Given the description of an element on the screen output the (x, y) to click on. 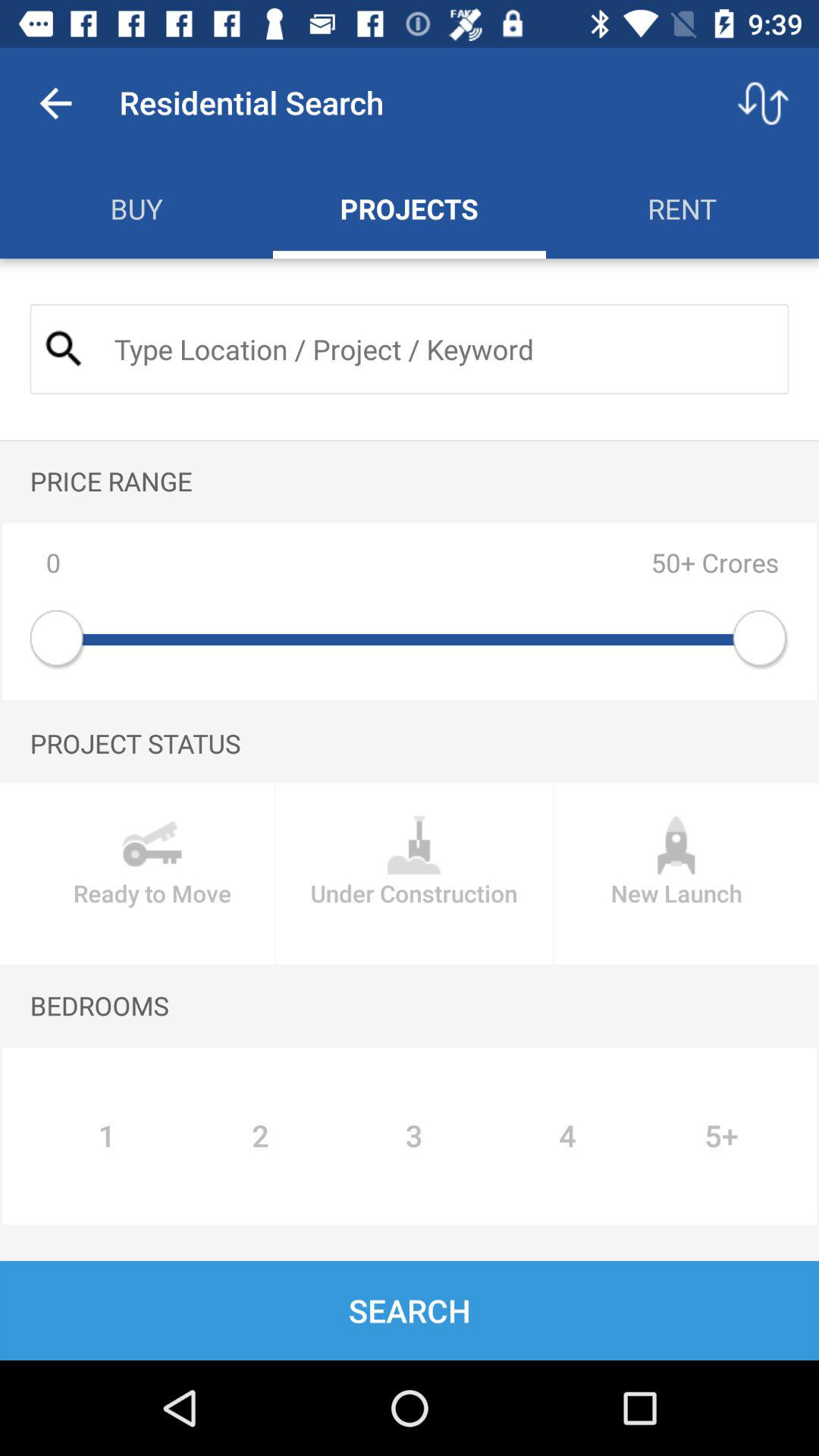
launch the icon above the rent (763, 103)
